Given the description of an element on the screen output the (x, y) to click on. 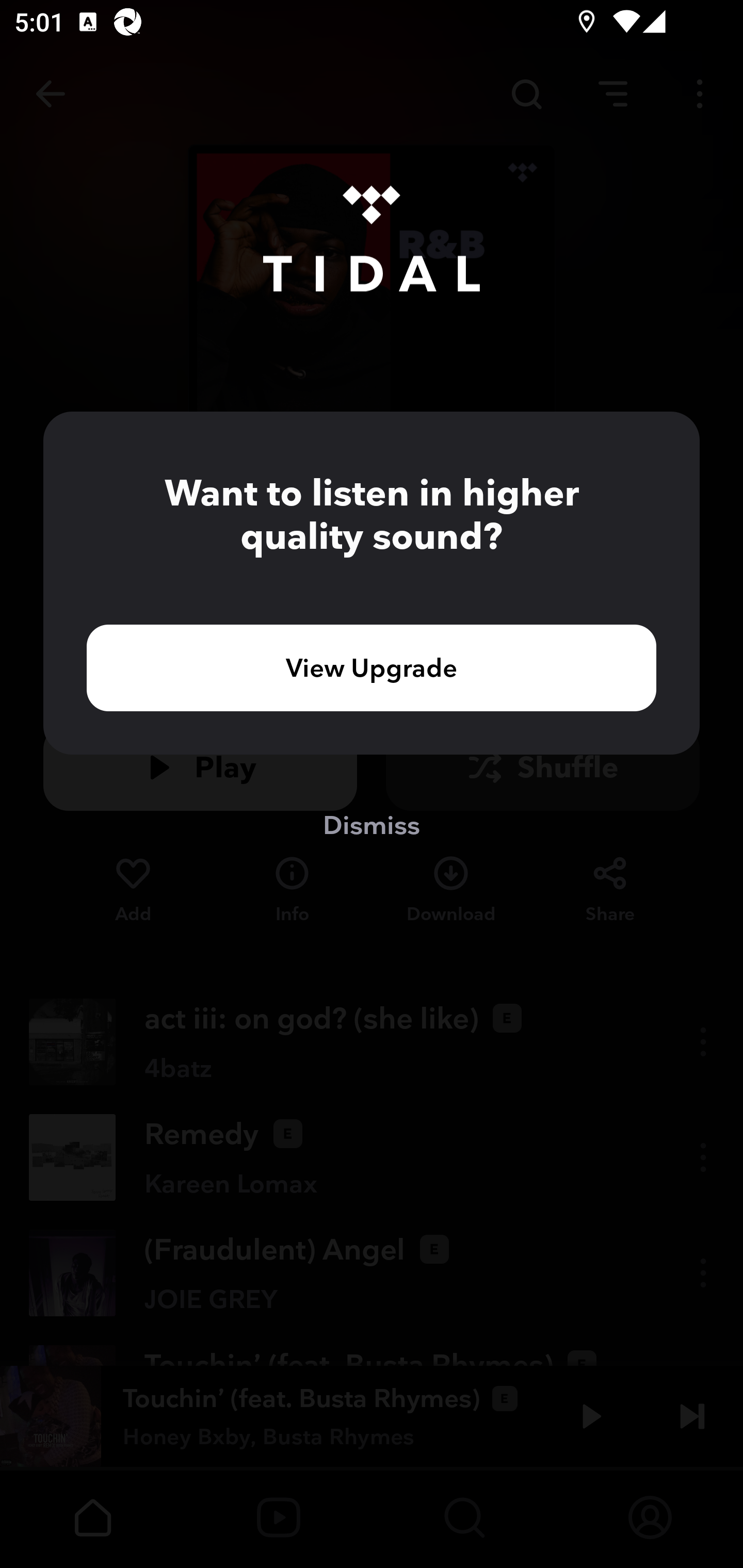
View Upgrade (371, 667)
Dismiss (371, 824)
